Given the description of an element on the screen output the (x, y) to click on. 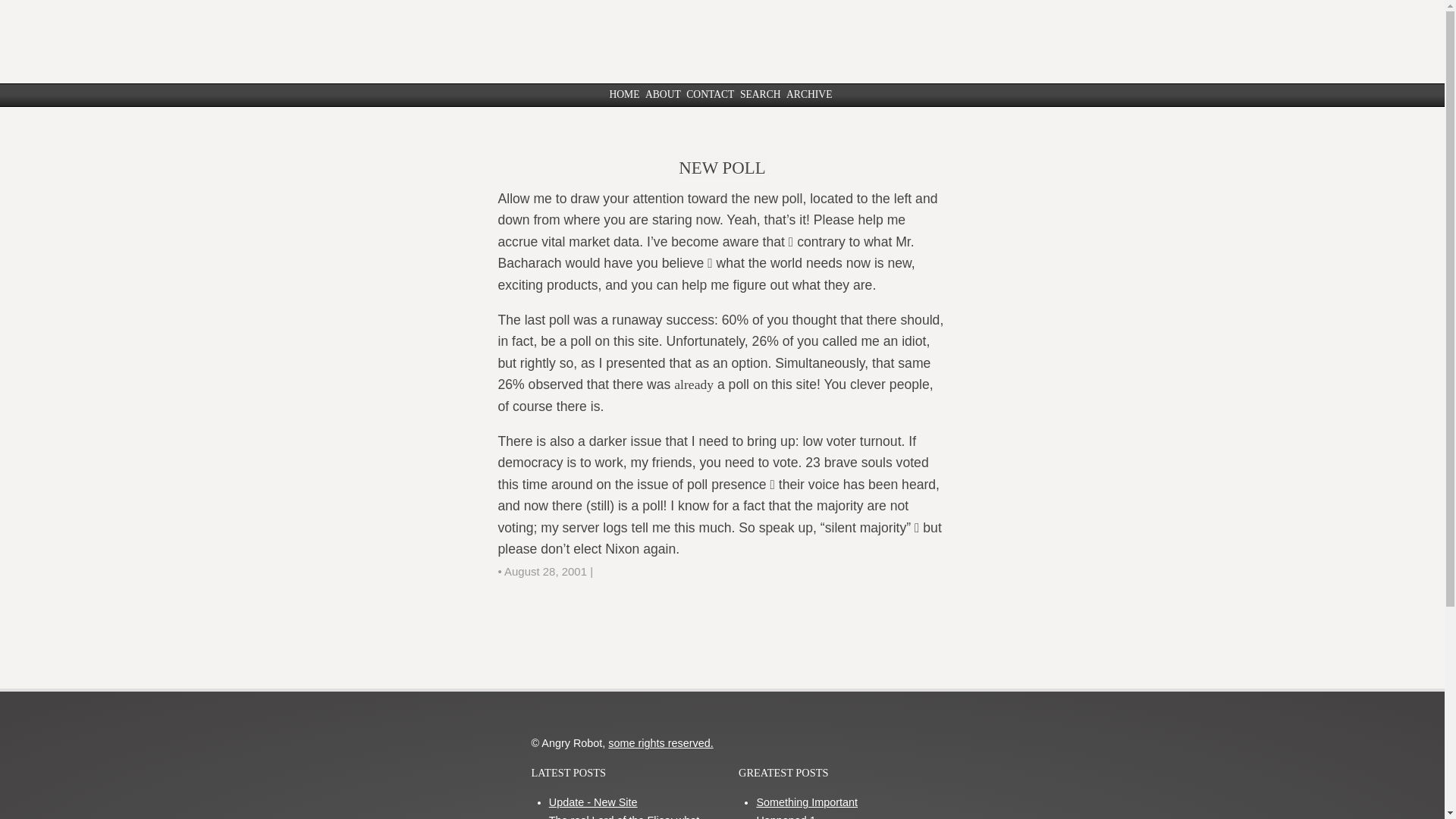
ARCHIVE (808, 93)
SEARCH (759, 93)
Something Important Happened 1 (806, 807)
NEW POLL (721, 167)
ABOUT (663, 93)
some rights reserved. (660, 743)
Update - New Site (592, 802)
HOME (623, 93)
CONTACT (709, 93)
